Given the description of an element on the screen output the (x, y) to click on. 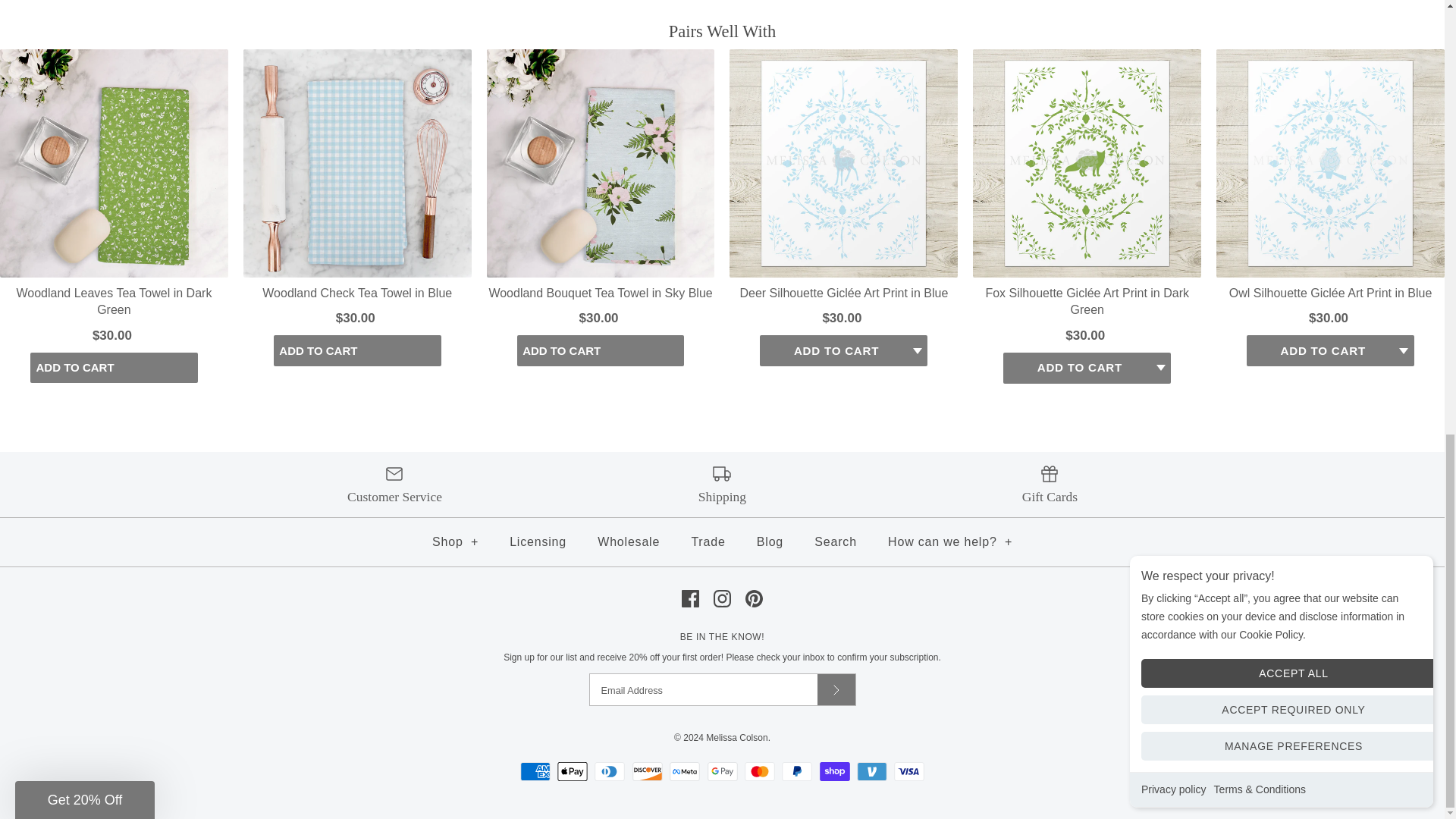
American Express (534, 771)
Facebook (689, 598)
Diners Club (609, 771)
Meta Pay (684, 771)
Discover (646, 771)
Instagram (721, 598)
Apple Pay (572, 771)
Pinterest (753, 598)
